Given the description of an element on the screen output the (x, y) to click on. 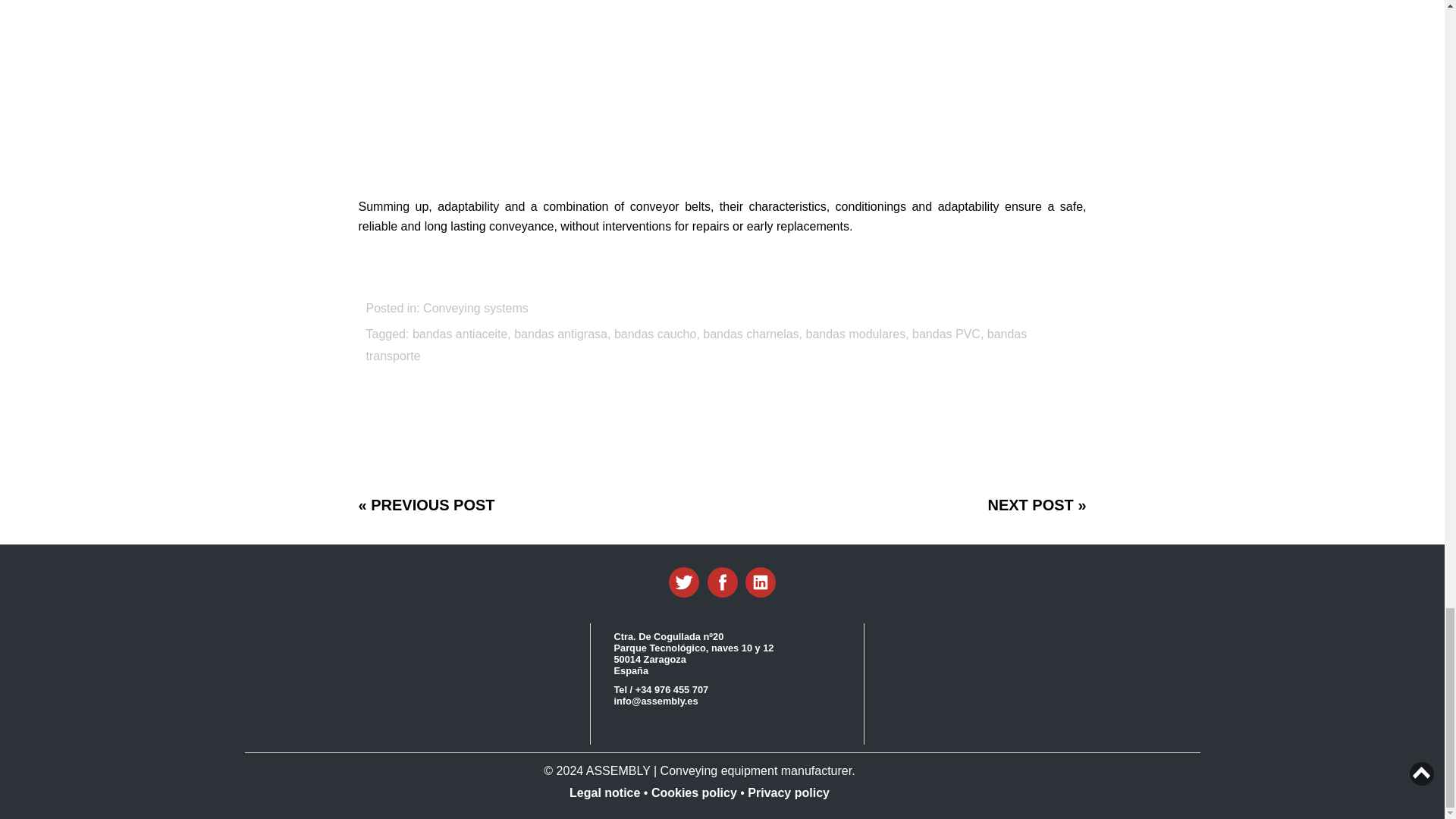
bandas charnelas (750, 333)
bandas PVC (945, 333)
Twitter (683, 582)
Cookies policy (693, 792)
Twitter (683, 582)
bandas antigrasa (560, 333)
Facebook (721, 582)
Facebook (721, 582)
Conveying systems (475, 308)
Legal notice (606, 792)
bandas transporte (695, 344)
bandas modulares (855, 333)
LinkedIn (760, 582)
Privacy policy (786, 792)
bandas antiaceite (459, 333)
